Given the description of an element on the screen output the (x, y) to click on. 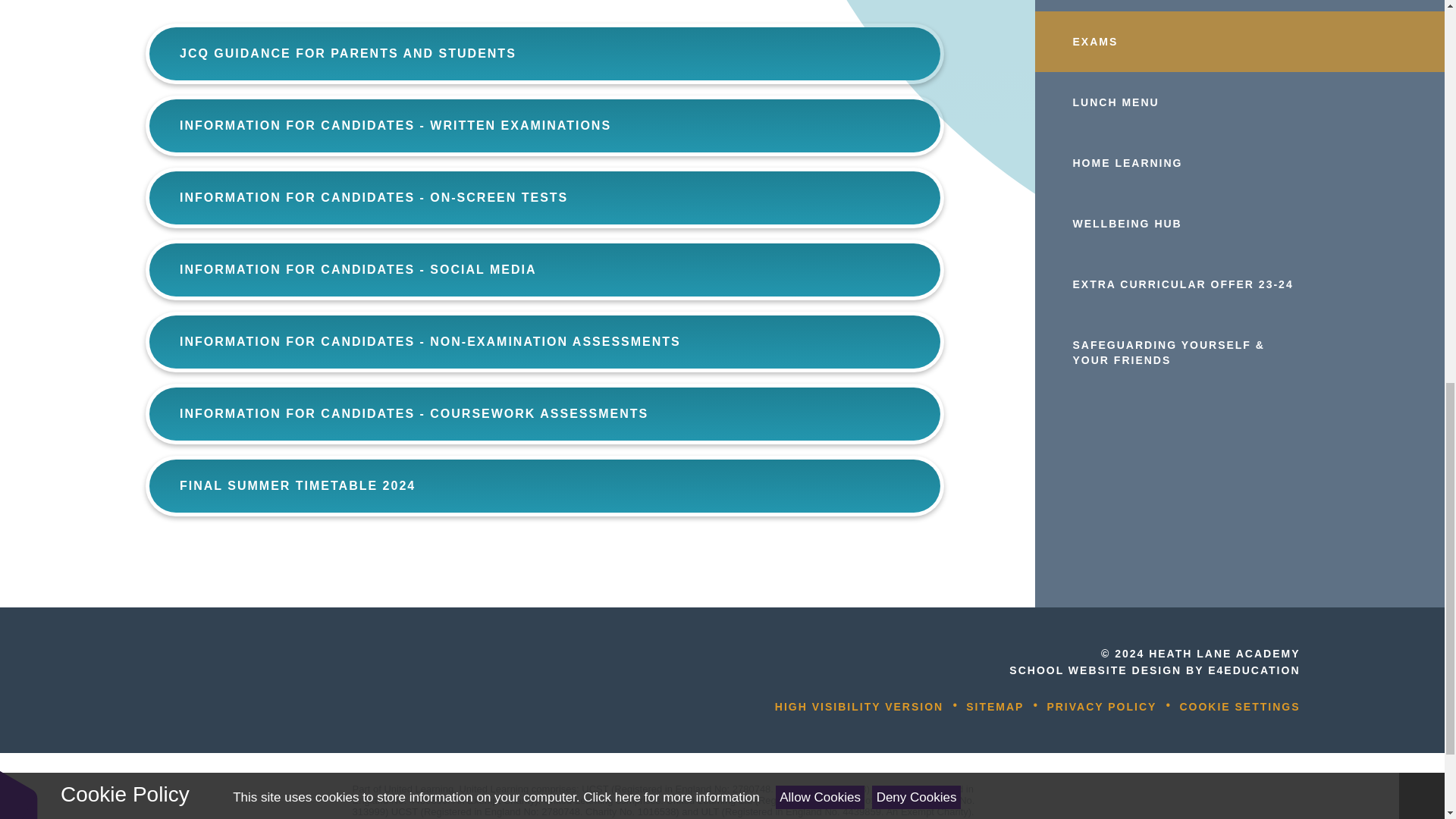
Cookie Settings (1239, 706)
